Given the description of an element on the screen output the (x, y) to click on. 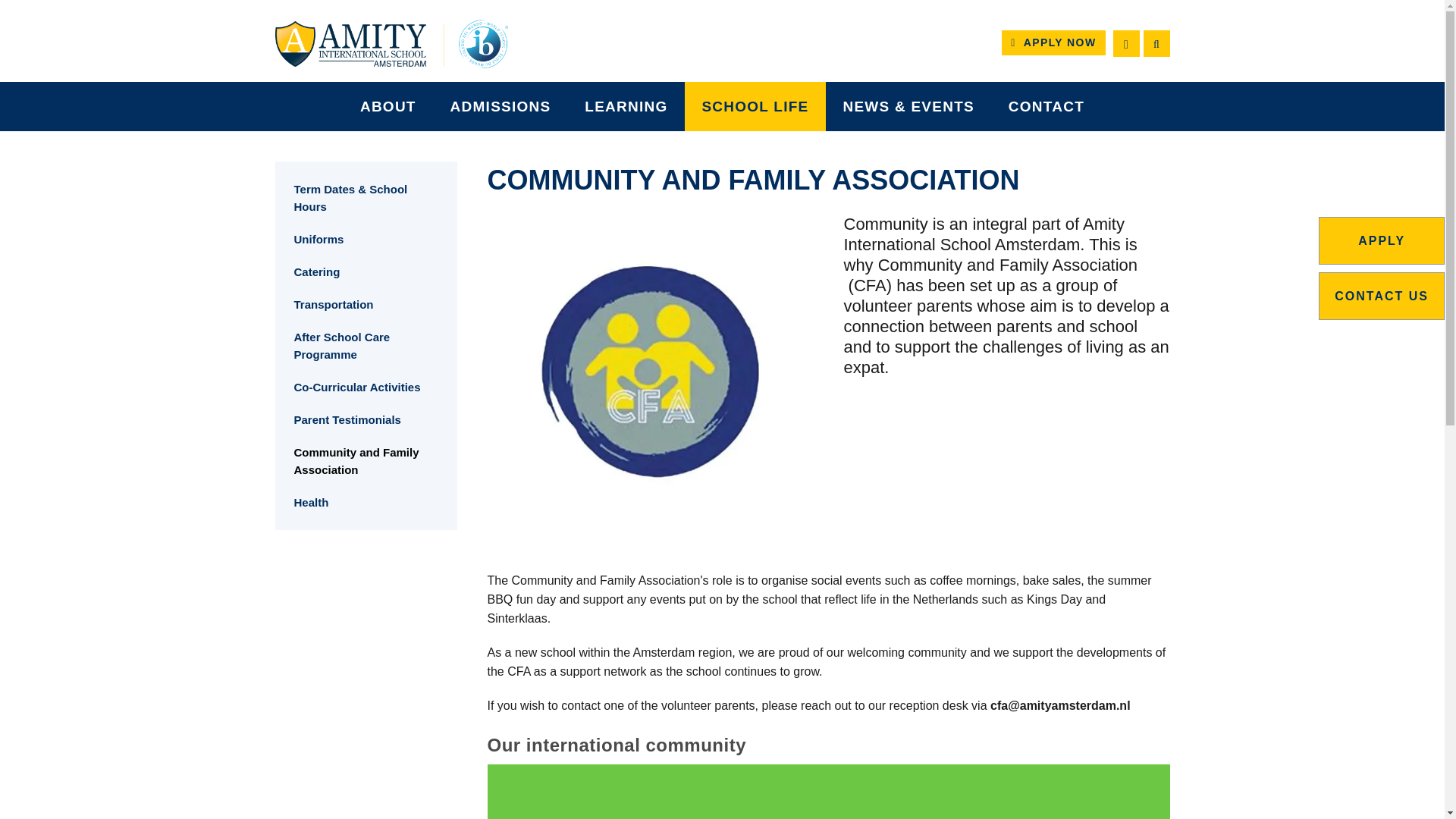
Amity International School Amsterdam (390, 43)
Apply Now (1053, 42)
